Given the description of an element on the screen output the (x, y) to click on. 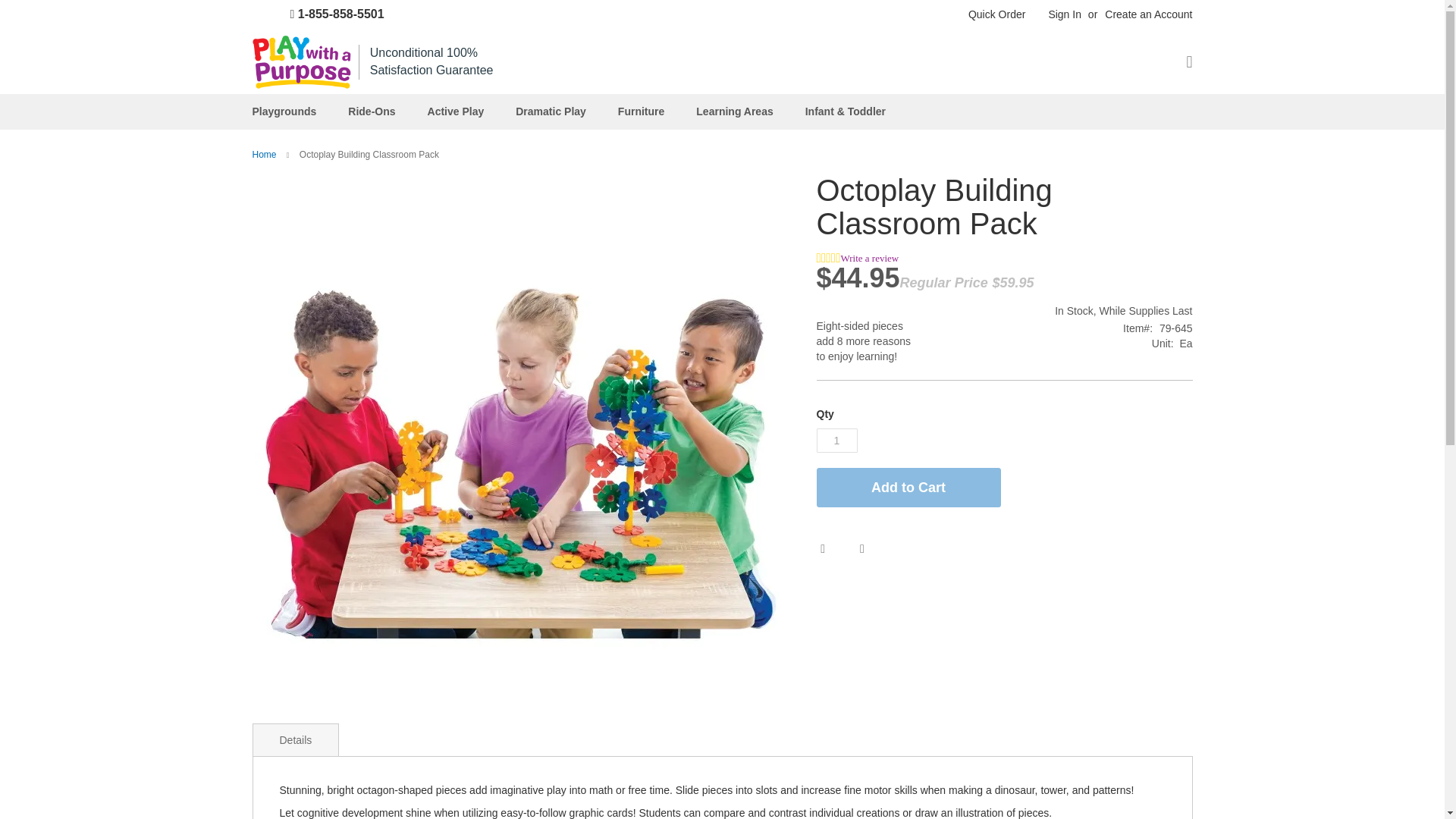
Sign In (1064, 14)
Add to Cart (907, 486)
Qty (836, 440)
1 (836, 440)
1-855-858-5501 (325, 13)
Quick Order (996, 14)
Create an Account (1148, 14)
Availability (1123, 311)
Play with a Purpose Logo (300, 62)
Go to Home Page (264, 154)
